Given the description of an element on the screen output the (x, y) to click on. 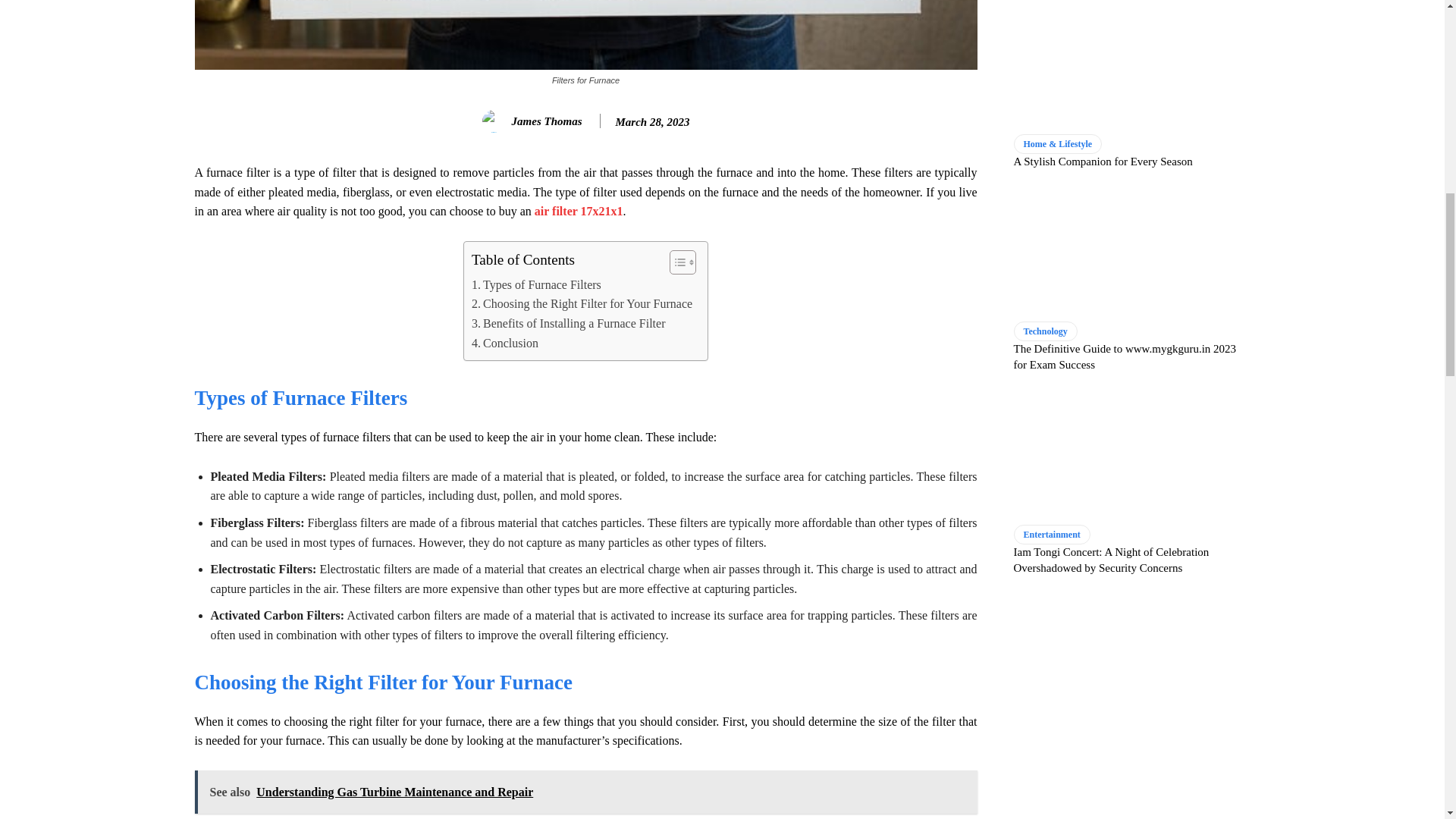
What are Filters for Furnace -Timesinsider.org (584, 34)
Choosing the Right Filter for Your Furnace (582, 303)
Conclusion (504, 342)
James Thomas (495, 120)
Benefits of Installing a Furnace Filter (568, 323)
Types of Furnace Filters (536, 284)
